Given the description of an element on the screen output the (x, y) to click on. 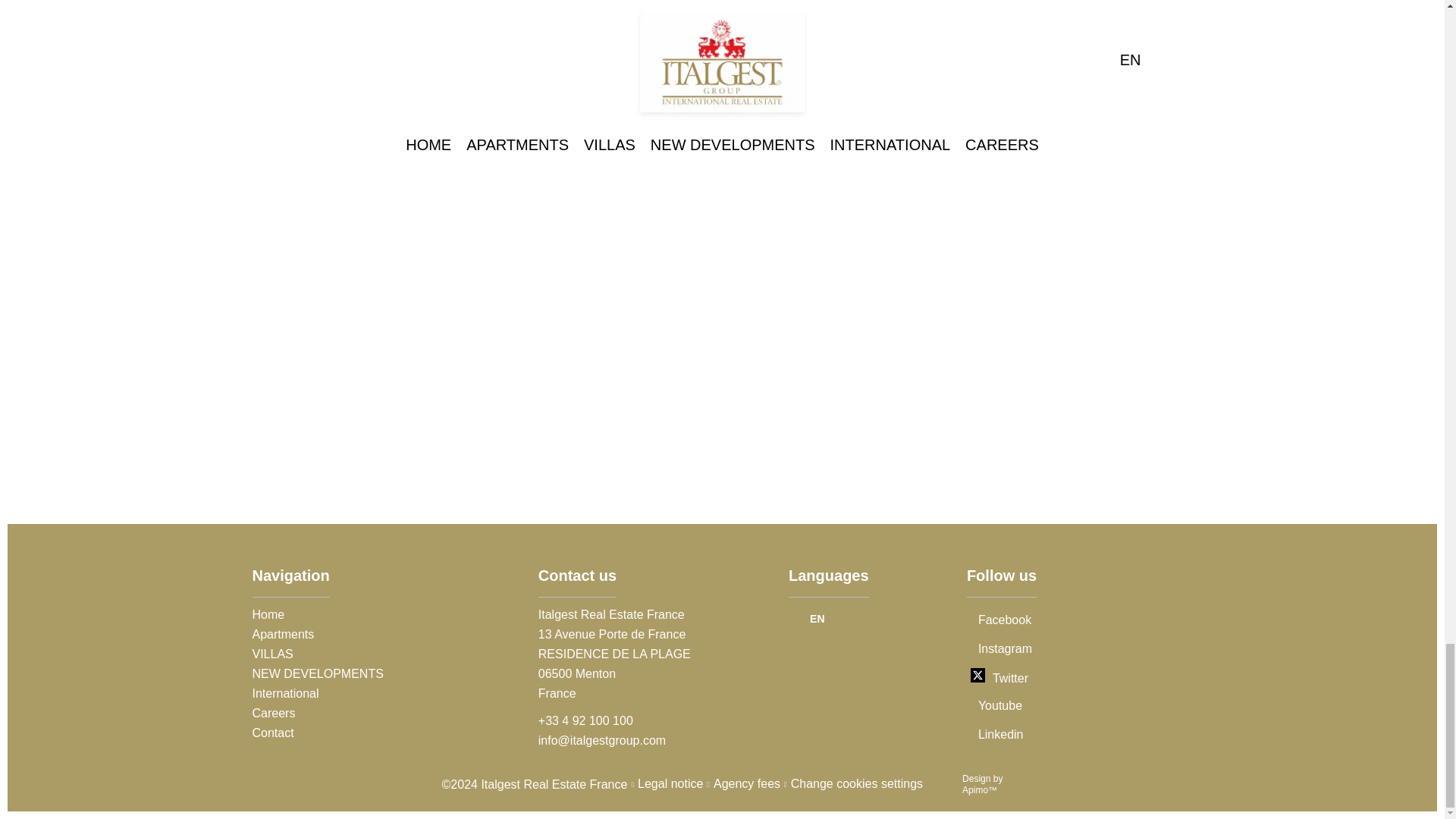
Apartments (282, 633)
Home (267, 613)
en (828, 617)
VILLAS (271, 653)
